Given the description of an element on the screen output the (x, y) to click on. 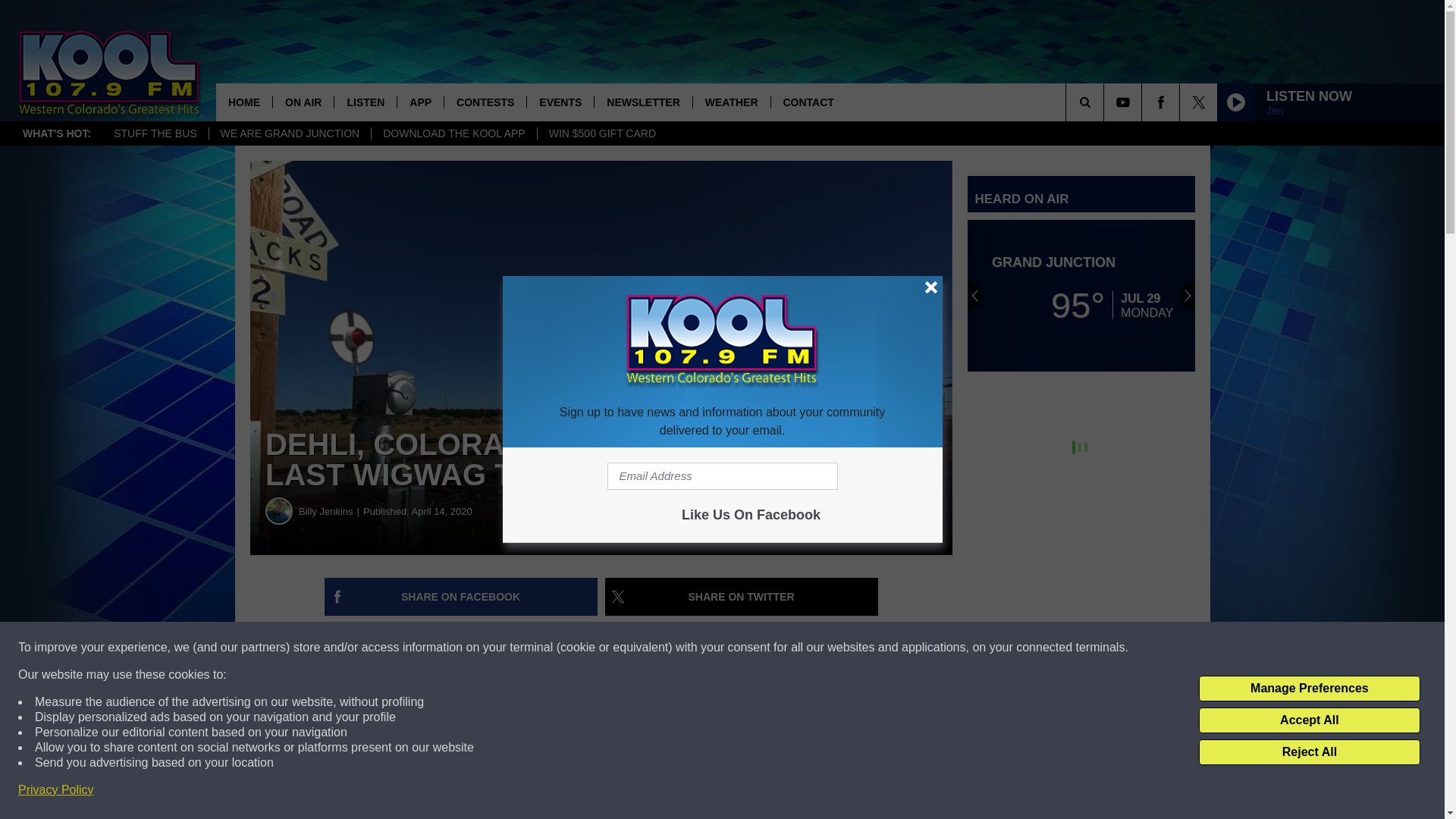
Email Address (722, 475)
CONTESTS (484, 102)
LISTEN (364, 102)
EVENTS (559, 102)
SEARCH (1106, 102)
WHAT'S HOT: (56, 133)
Share on Facebook (460, 596)
ON AIR (302, 102)
Accept All (1309, 720)
APP (420, 102)
Grand Junction Weather (1081, 295)
SEARCH (1106, 102)
Reject All (1309, 751)
WE ARE GRAND JUNCTION (289, 133)
Share on Twitter (741, 596)
